Given the description of an element on the screen output the (x, y) to click on. 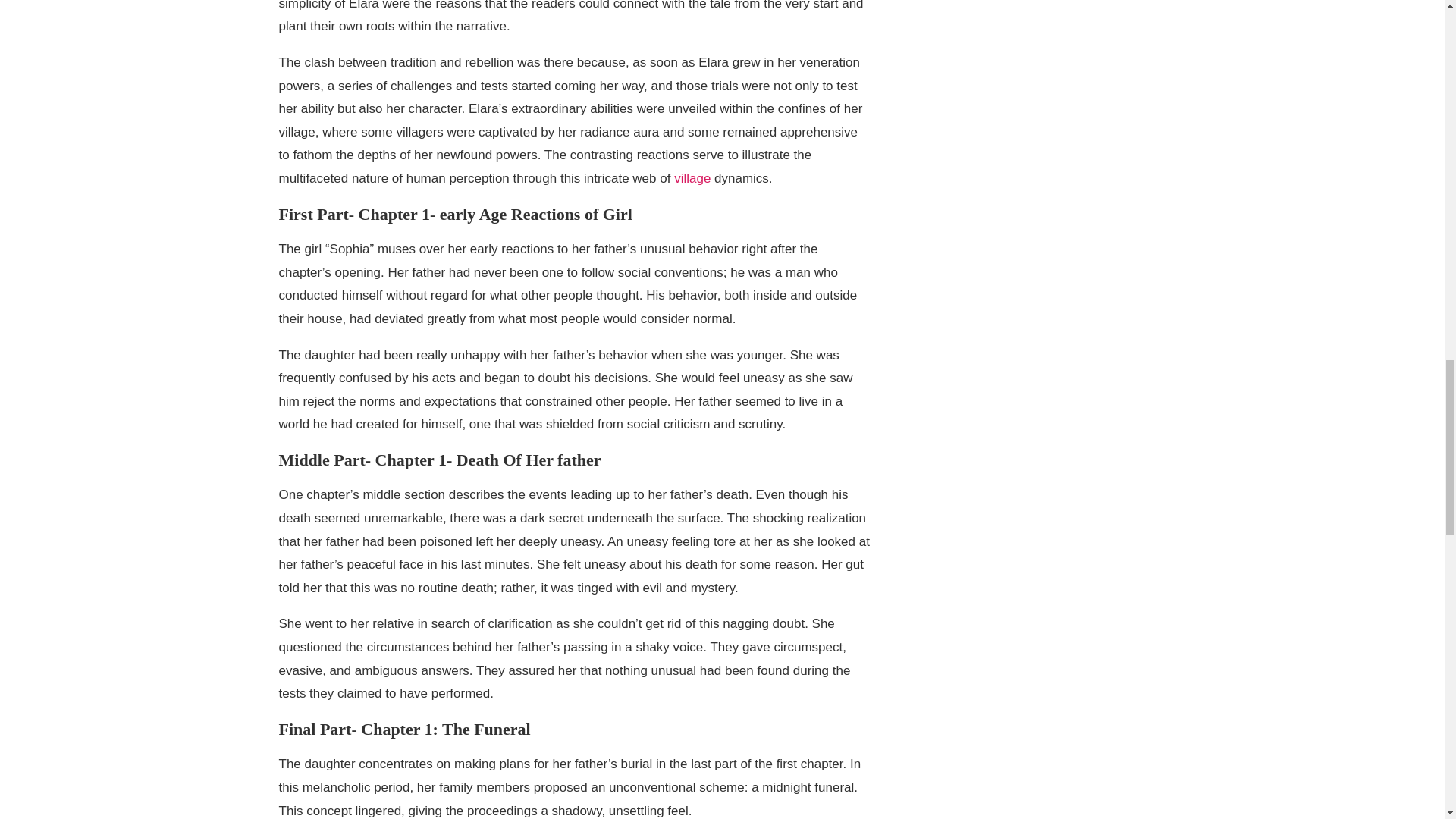
village (692, 178)
